Given the description of an element on the screen output the (x, y) to click on. 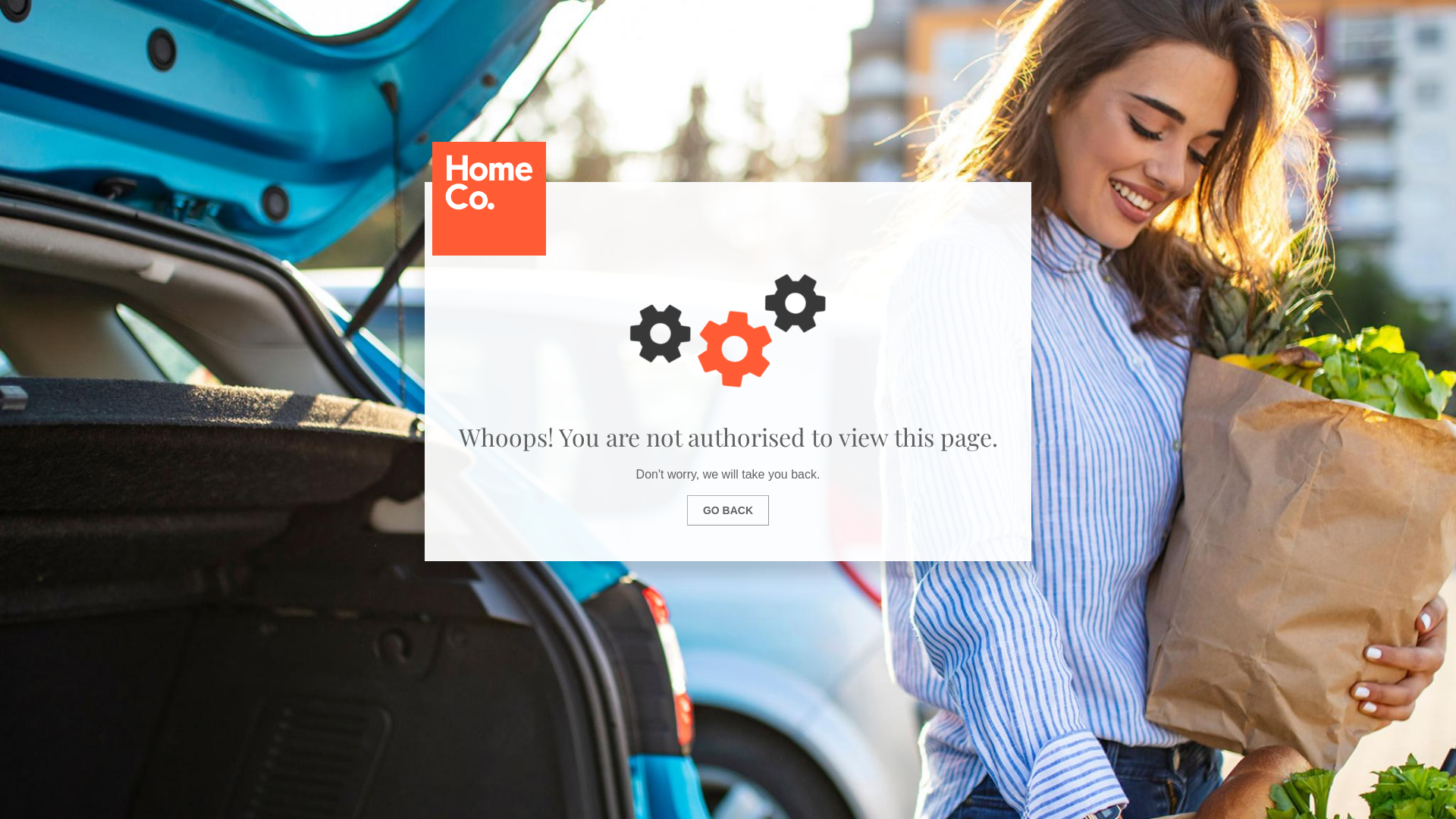
GO BACK Element type: text (727, 510)
